Given the description of an element on the screen output the (x, y) to click on. 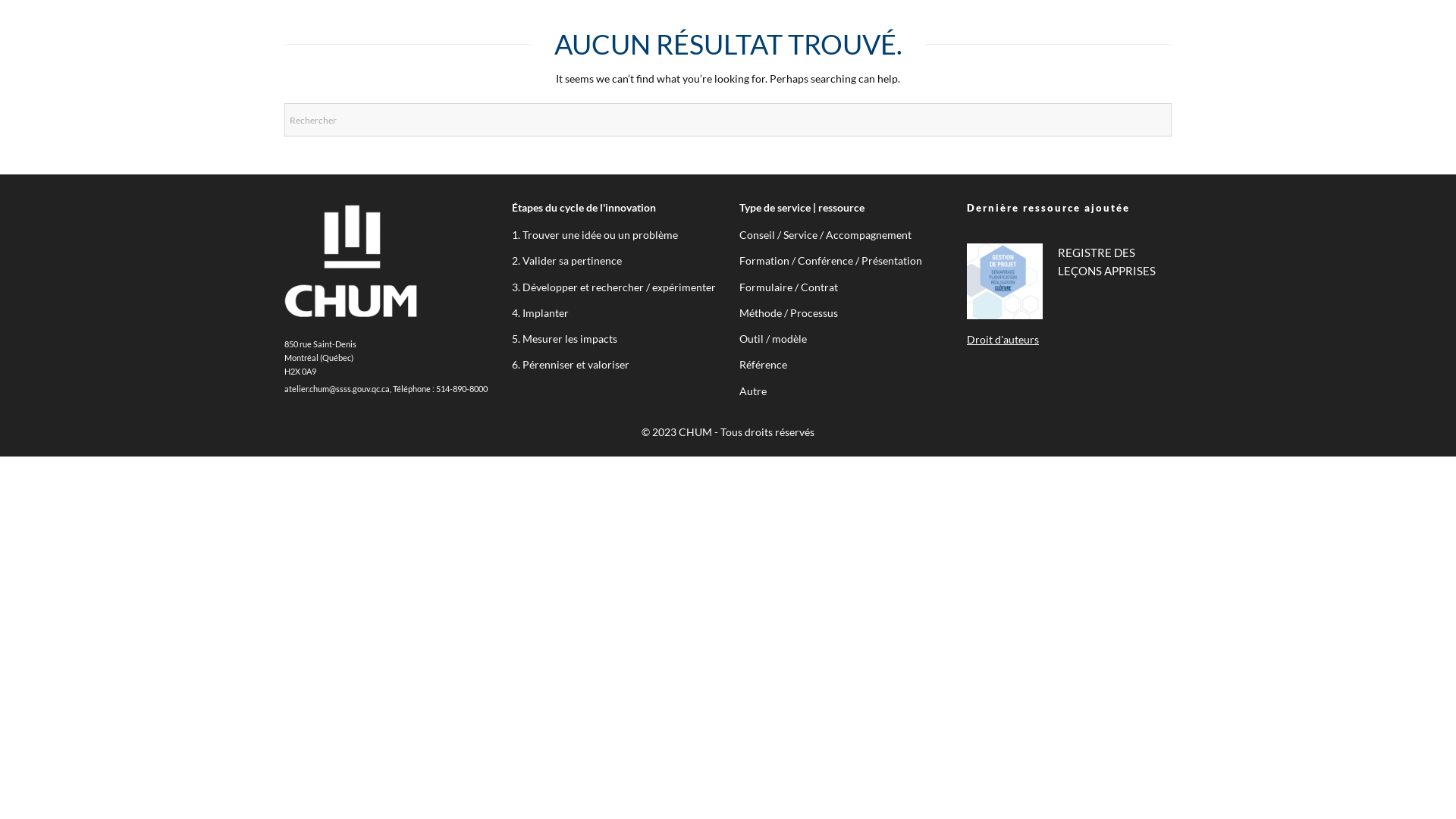
Conseil / Service / Accompagnement Element type: text (825, 234)
Formulaire / Contrat Element type: text (788, 286)
Type de service | ressource Element type: text (801, 206)
atelier.chum@ssss.gouv.qc.ca Element type: text (336, 388)
Droit d'auteurs Element type: text (1002, 338)
Autre Element type: text (752, 390)
4. Implanter Element type: text (539, 312)
2. Valider sa pertinence Element type: text (566, 260)
5. Mesurer les impacts Element type: text (564, 338)
